Given the description of an element on the screen output the (x, y) to click on. 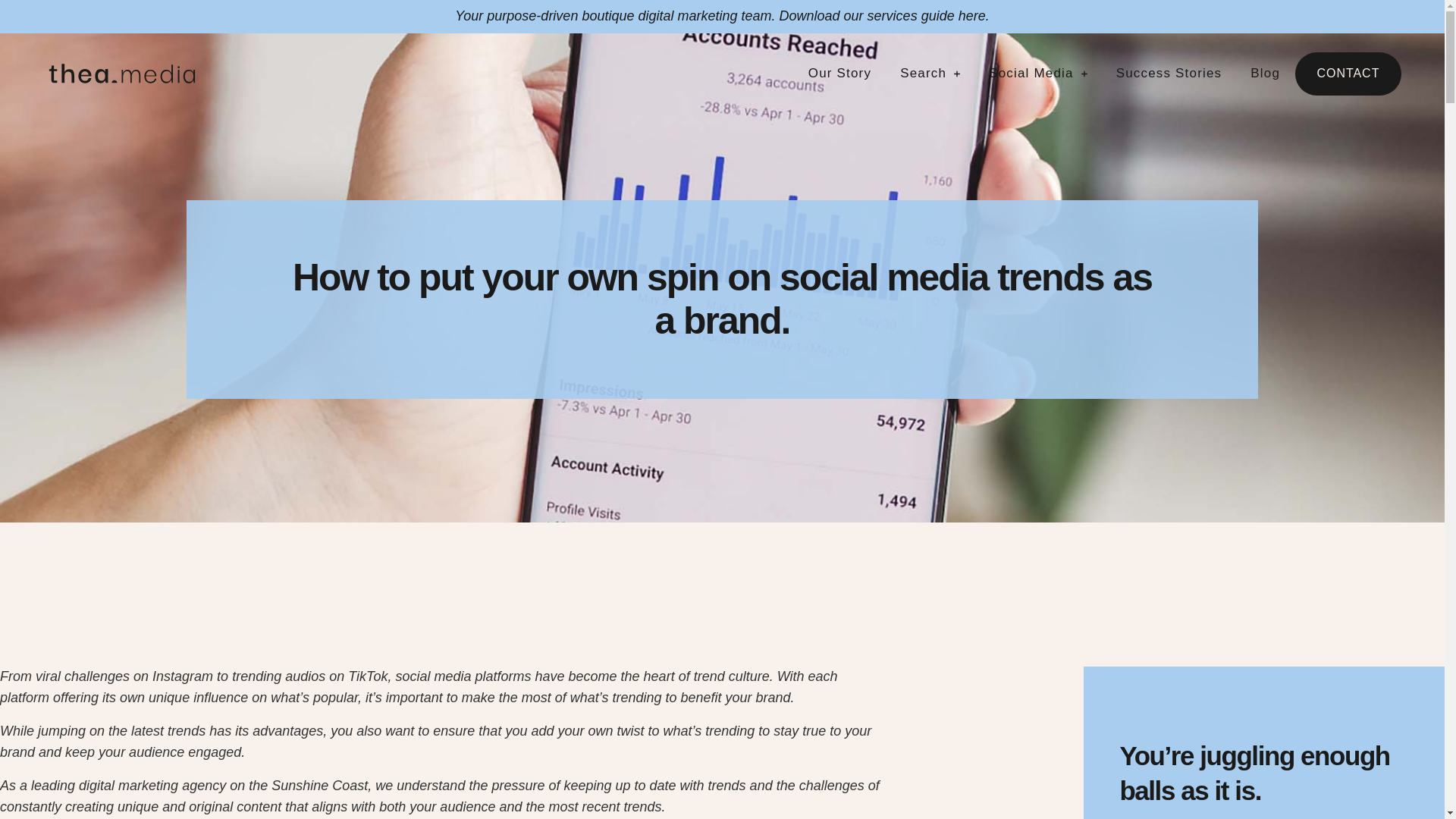
CONTACT (1347, 73)
Blog (1264, 73)
Success Stories (1169, 73)
Our Story (839, 73)
